Given the description of an element on the screen output the (x, y) to click on. 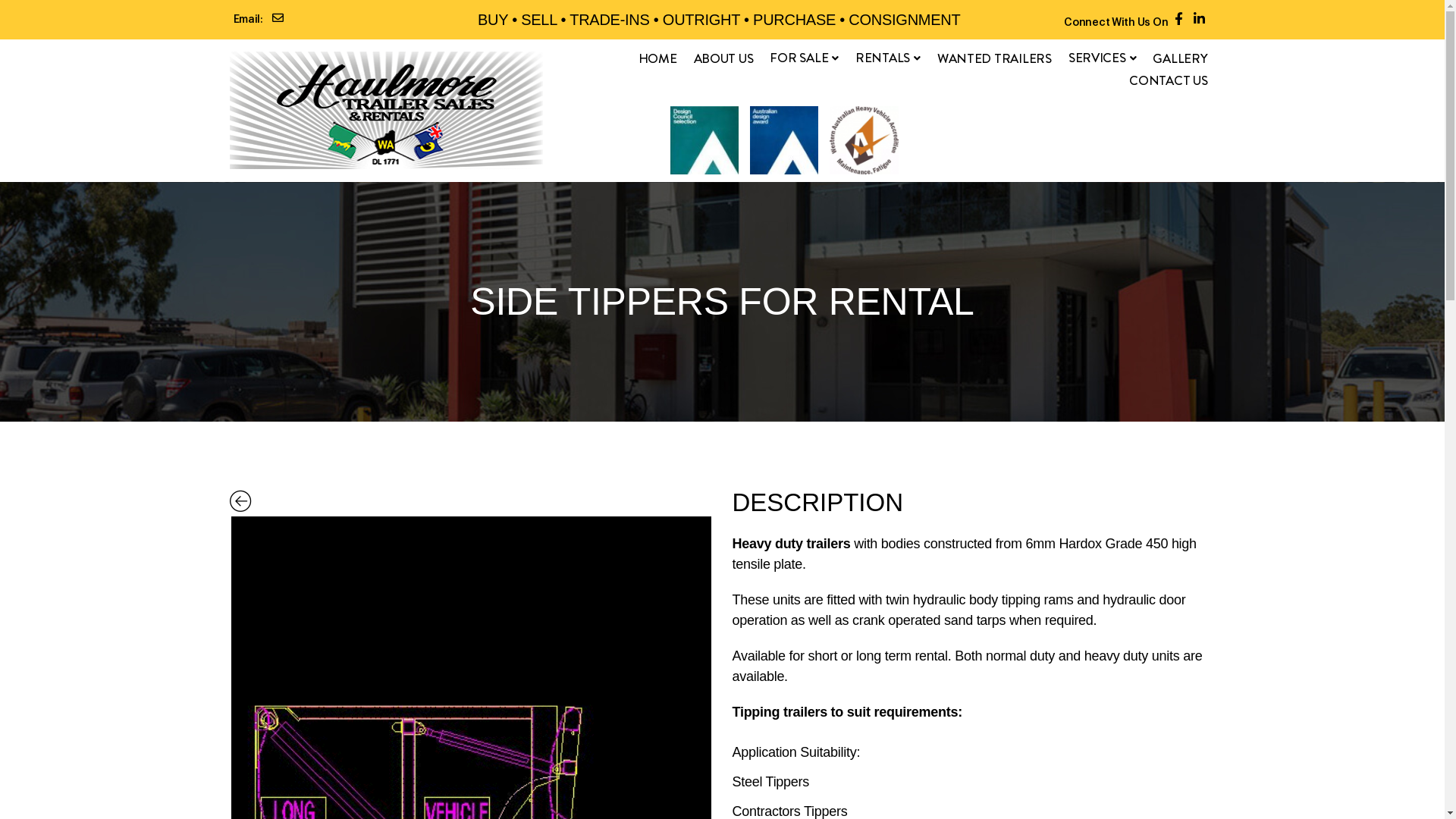
RENTALS Element type: text (887, 58)
Email: Element type: text (327, 20)
WANTED TRAILERS Element type: text (994, 58)
GALLERY Element type: text (1179, 58)
CONTACT US Element type: text (1168, 80)
ABOUT US Element type: text (723, 58)
SERVICES Element type: text (1102, 58)
HOME Element type: text (657, 58)
FOR SALE Element type: text (803, 58)
